Given the description of an element on the screen output the (x, y) to click on. 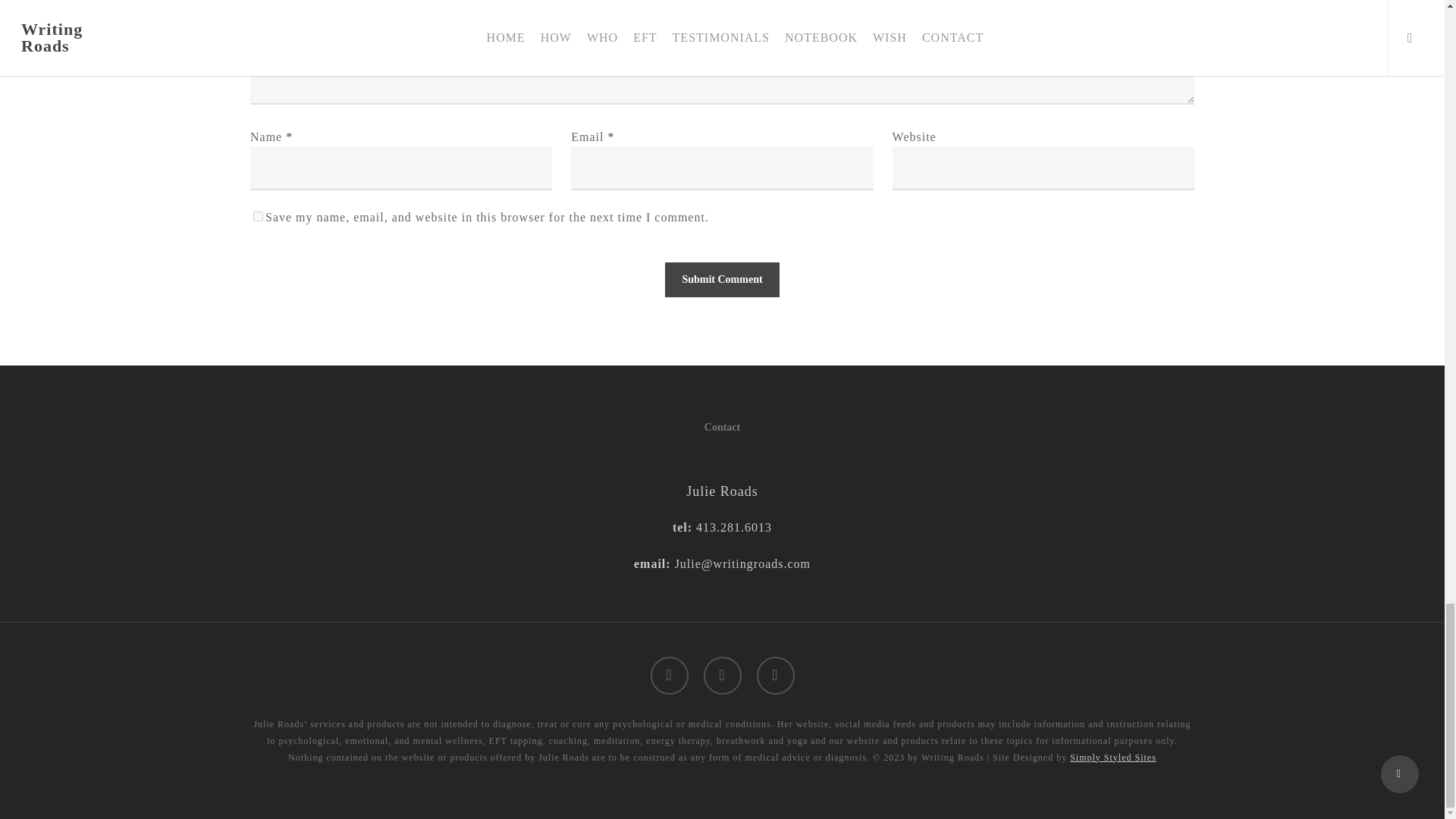
Submit Comment (721, 279)
Submit Comment (721, 279)
yes (258, 216)
